Given the description of an element on the screen output the (x, y) to click on. 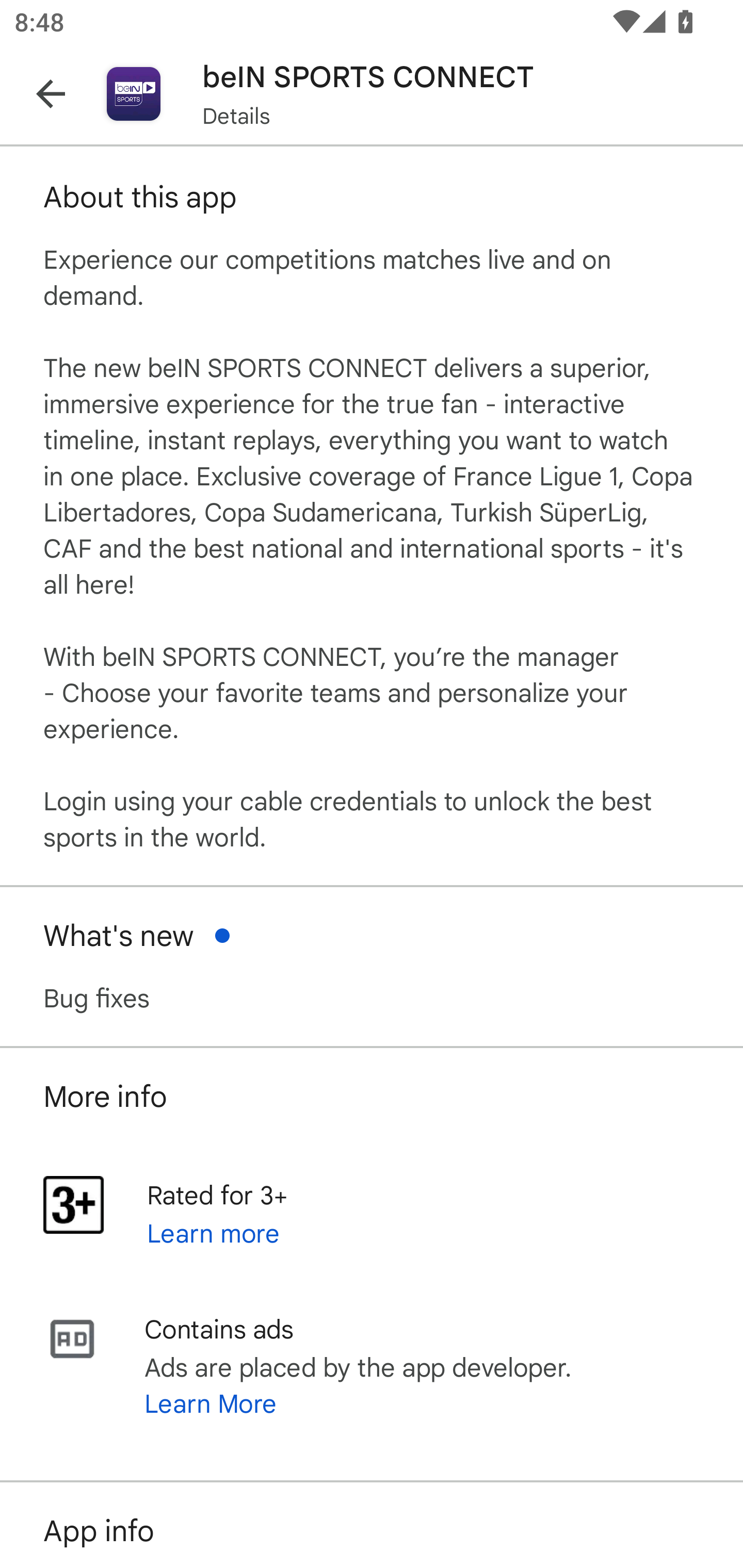
Navigate up (50, 93)
